Given the description of an element on the screen output the (x, y) to click on. 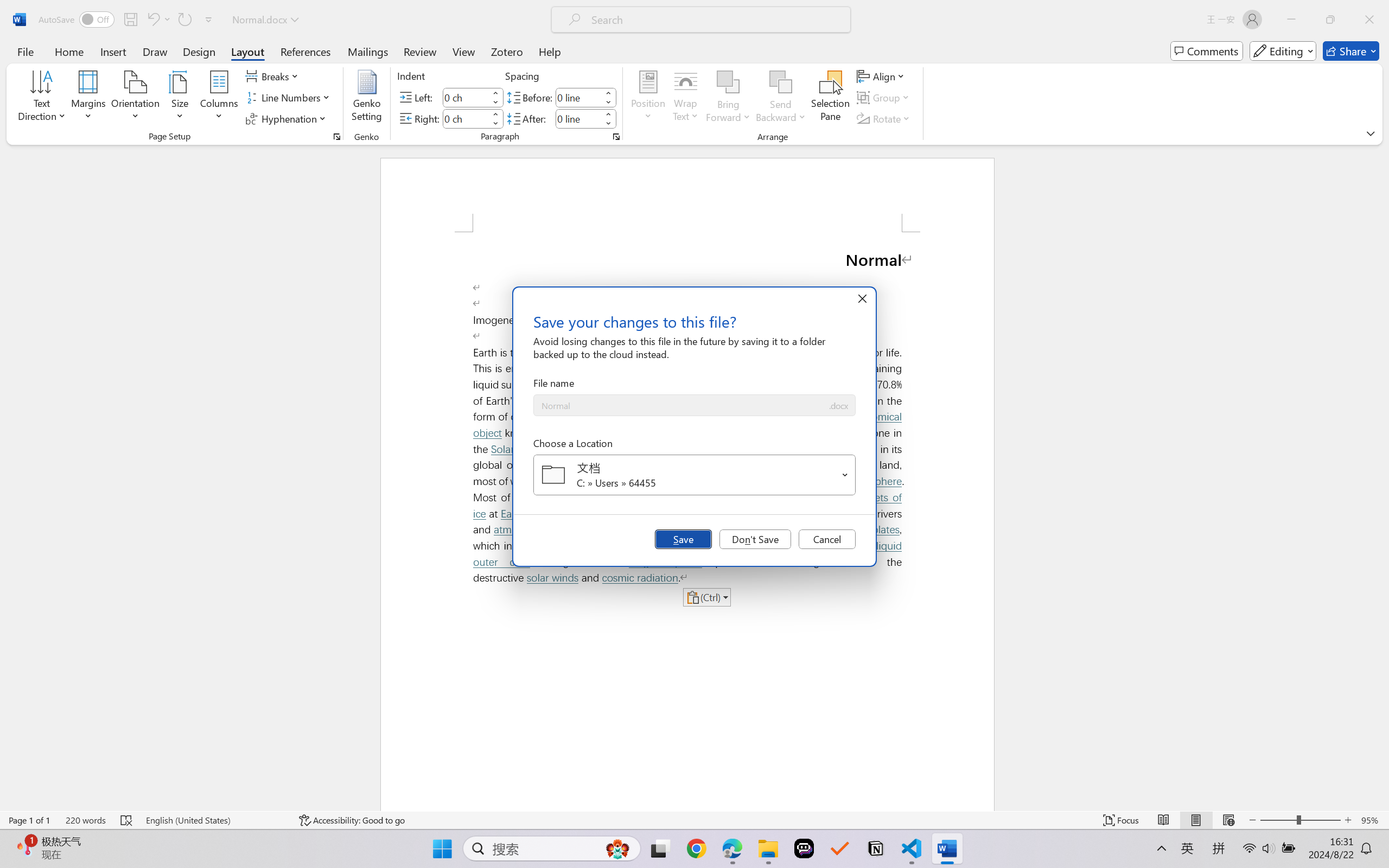
File name (680, 405)
